Given the description of an element on the screen output the (x, y) to click on. 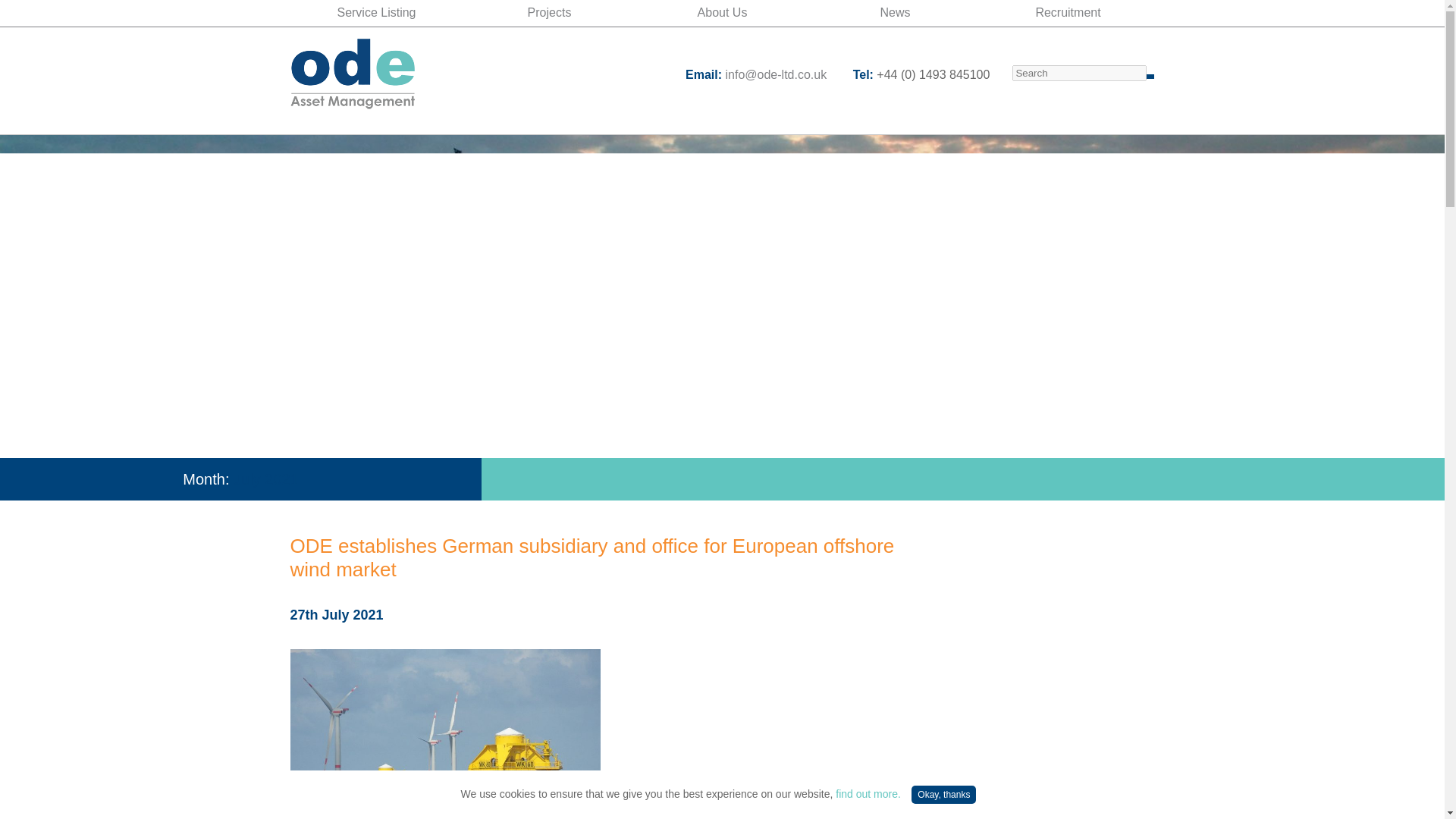
About Us (721, 12)
News (894, 12)
find out more. (868, 793)
ODE Home (351, 73)
Okay, thanks (943, 794)
Service Listing (376, 12)
Recruitment (1067, 12)
Projects (548, 12)
